Given the description of an element on the screen output the (x, y) to click on. 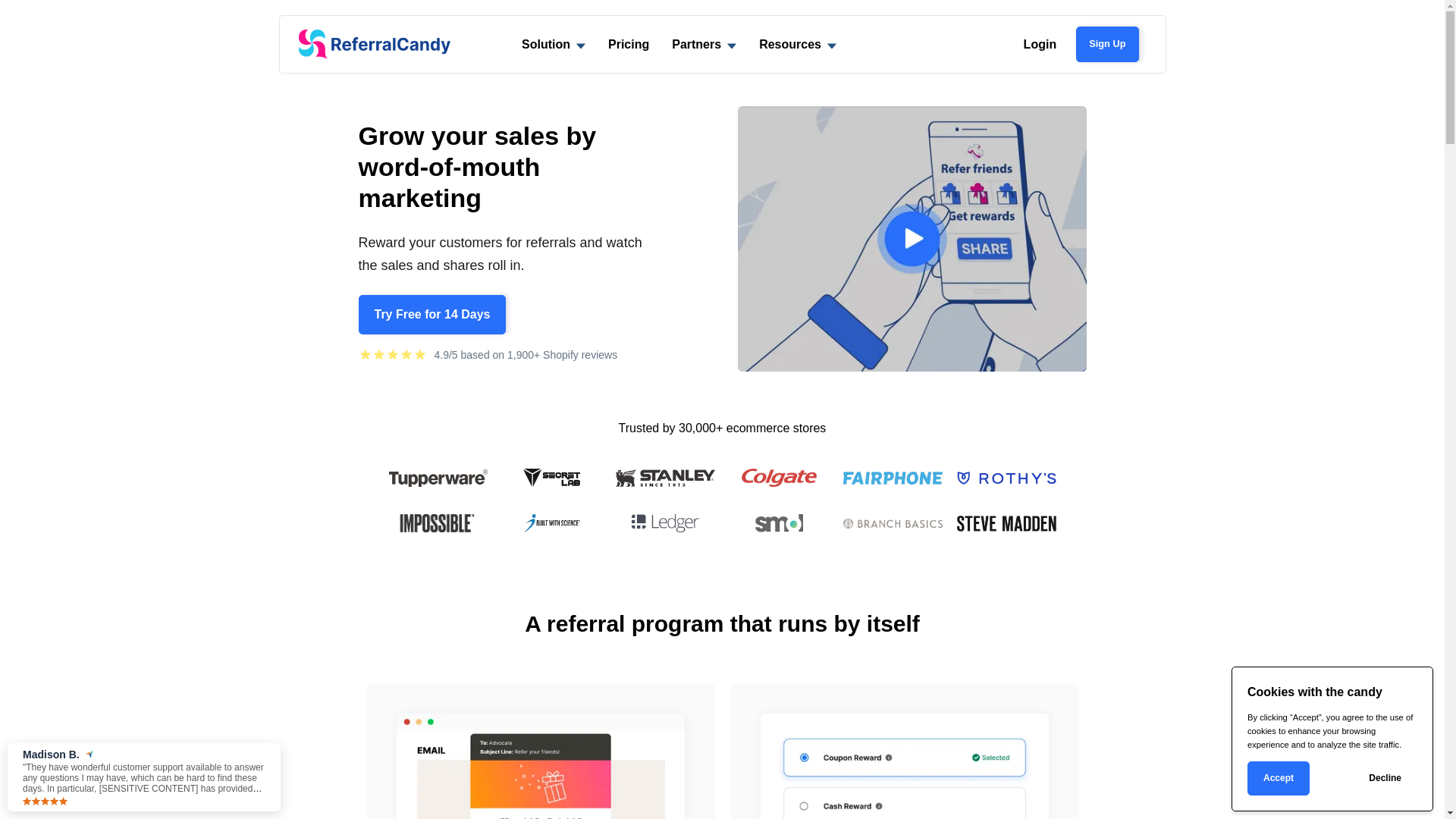
Login Element type: text (1040, 43)
Pricing Element type: text (628, 43)
Try Free for 14 Days Element type: text (431, 314)
Sign Up Element type: text (1107, 43)
Accept Element type: text (1278, 778)
Decline Element type: text (1384, 778)
